Given the description of an element on the screen output the (x, y) to click on. 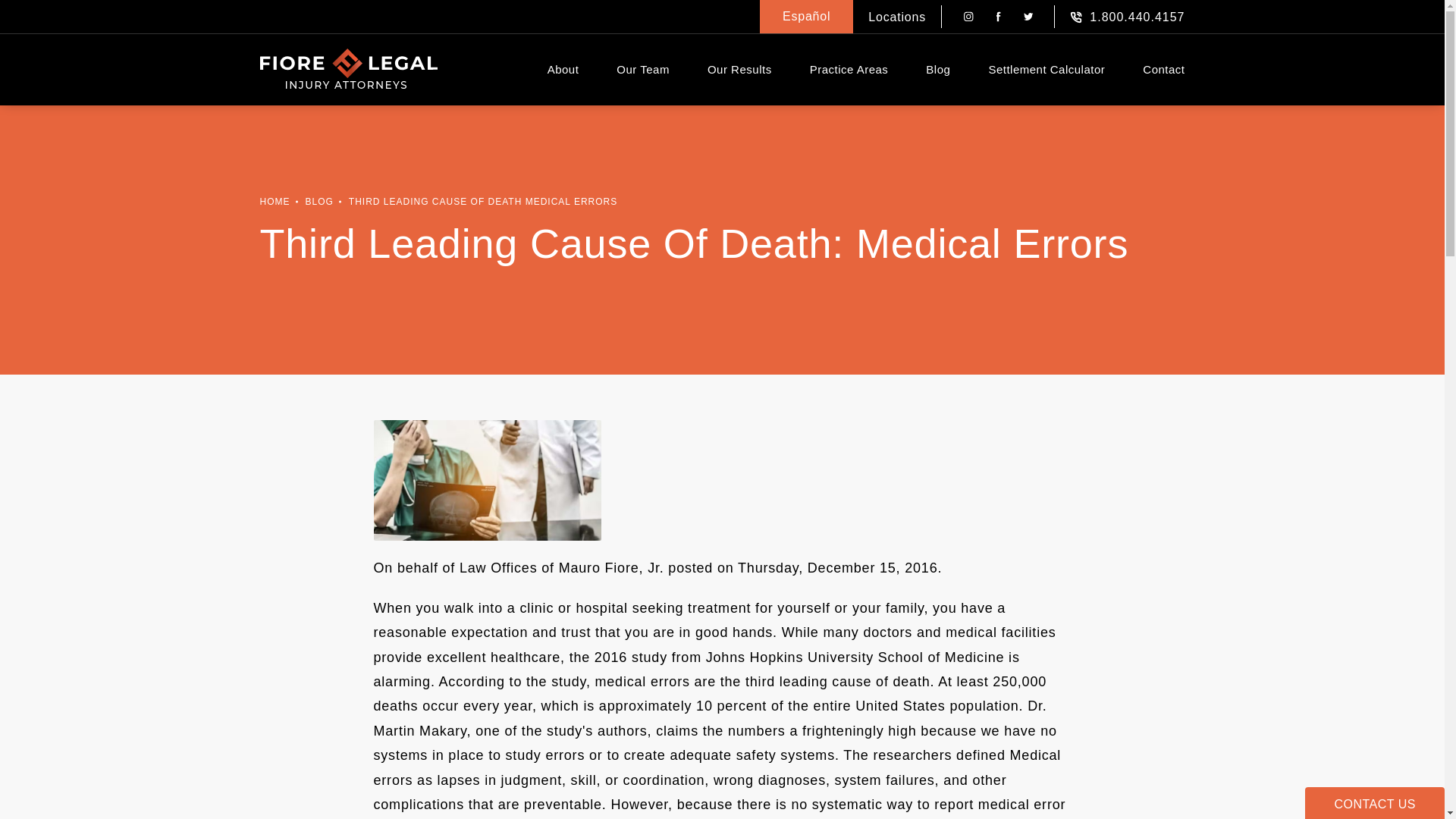
Our Results (739, 69)
Fiore Legal on Facebook (999, 18)
Our Team (642, 69)
1.800.440.4157 (1127, 16)
Locations (896, 16)
Fiore Legal on Twitter (1029, 18)
Fiore Legal on Instagram (968, 18)
Practice Areas (848, 69)
About (563, 69)
